Given the description of an element on the screen output the (x, y) to click on. 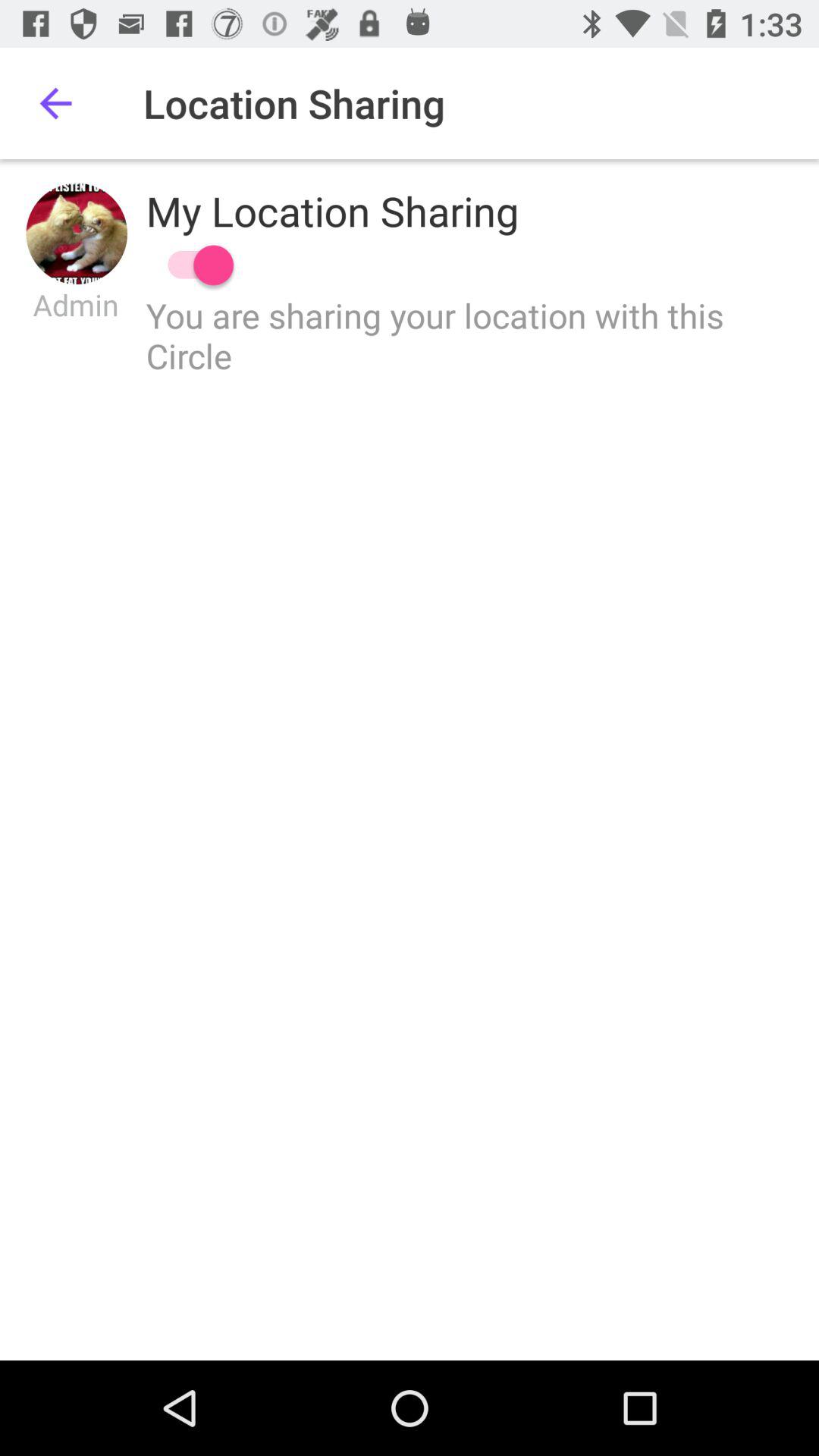
switch sharing location (193, 265)
